Given the description of an element on the screen output the (x, y) to click on. 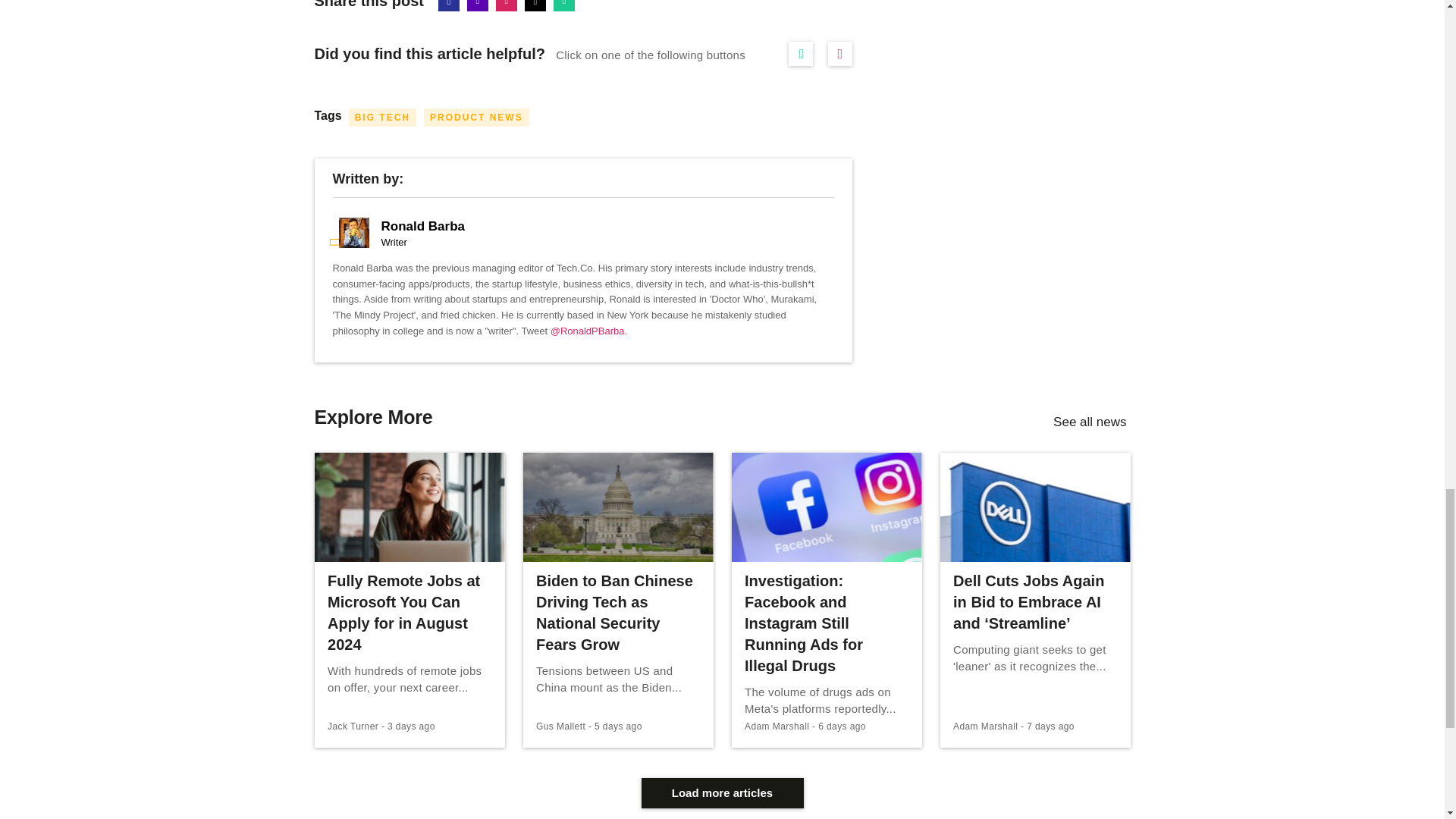
Flipboard (506, 5)
Twitter-x (535, 5)
Whatsapp (564, 5)
Linkedin (477, 5)
Facebook (449, 5)
